Given the description of an element on the screen output the (x, y) to click on. 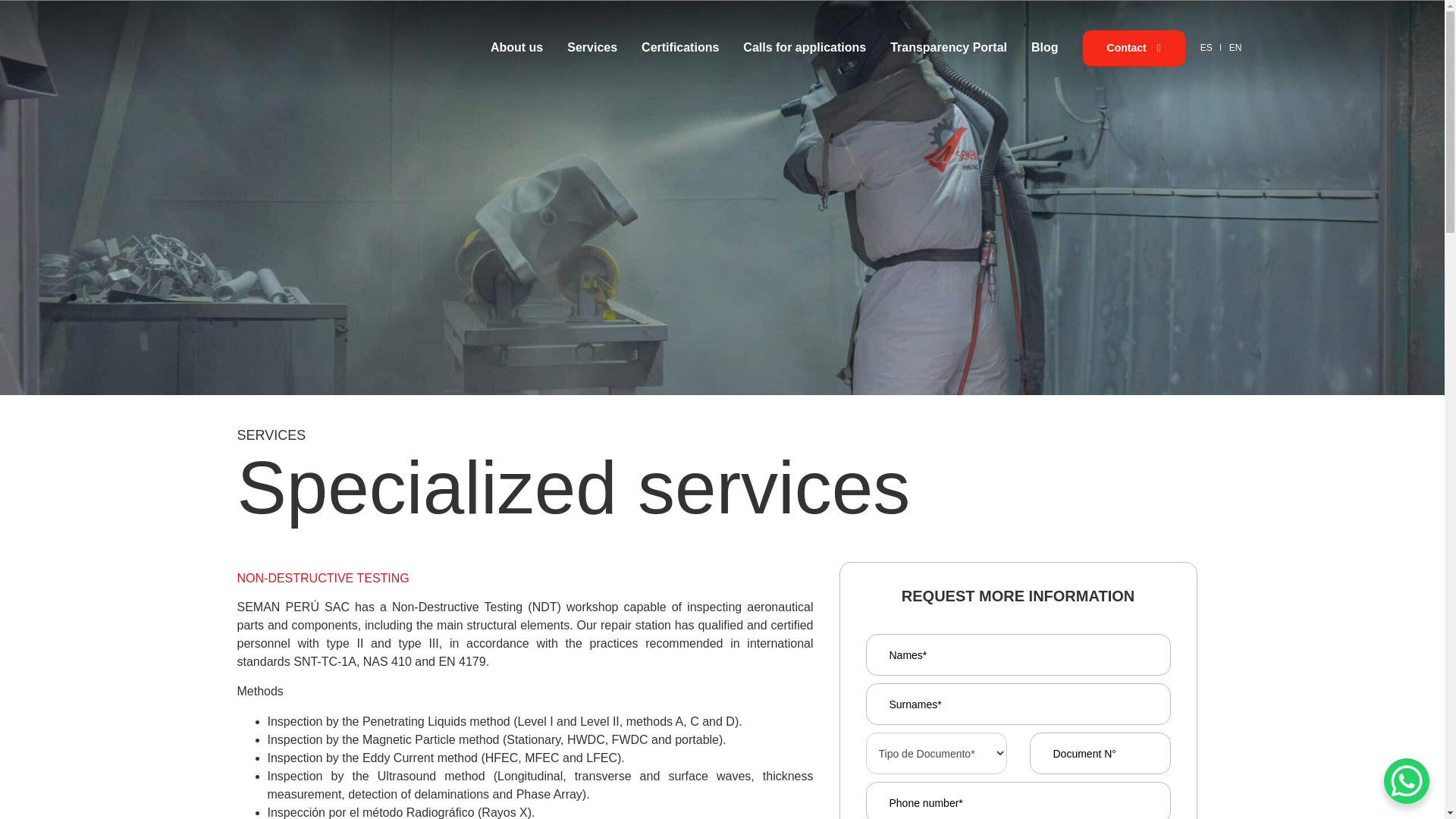
Transparency Portal (959, 47)
Blog (1056, 47)
About us (528, 47)
Services (604, 47)
Calls for applications (815, 47)
Contact (1134, 48)
Certifications (692, 47)
